Given the description of an element on the screen output the (x, y) to click on. 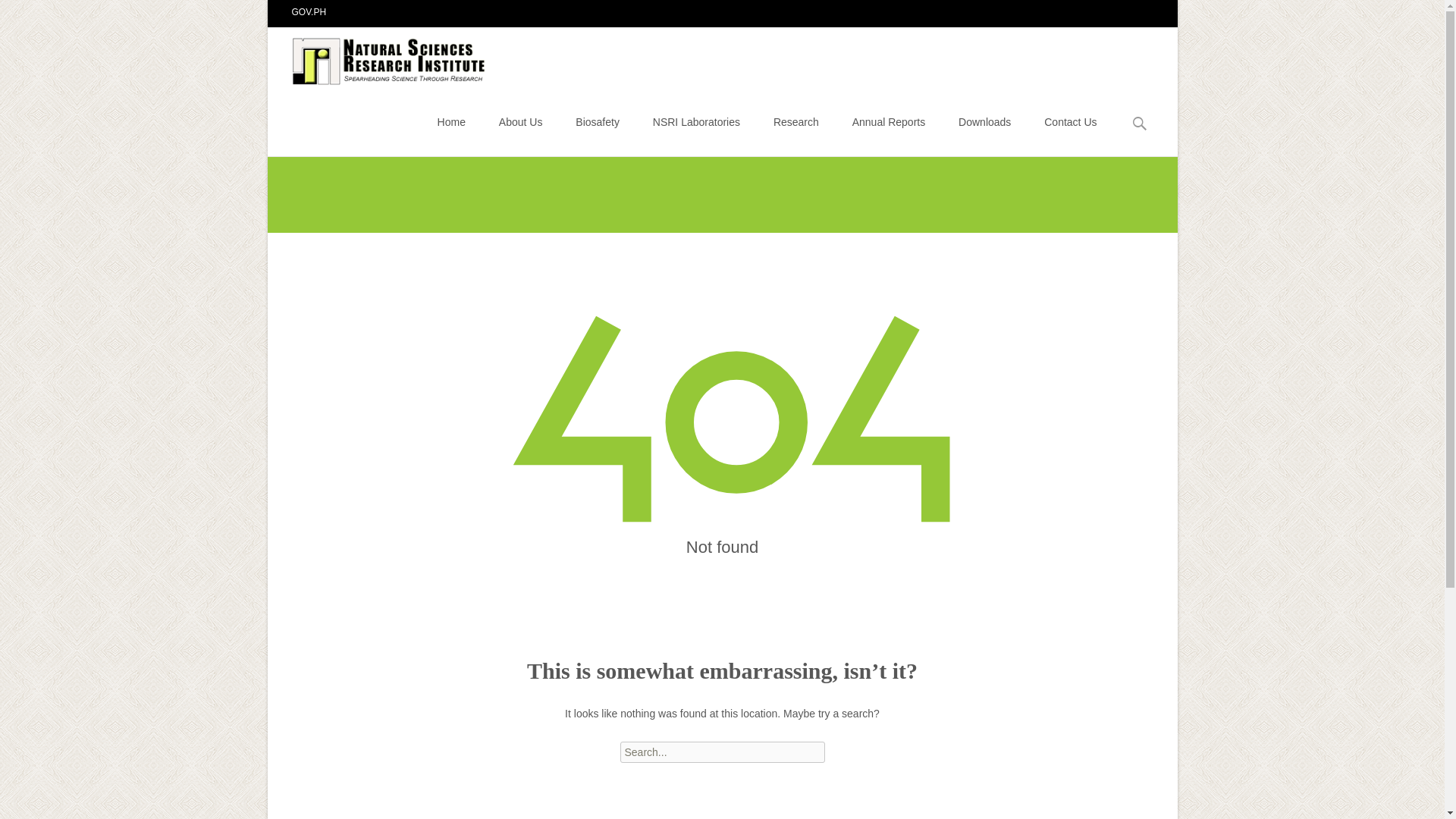
Search for: (1139, 123)
Annual Reports (888, 121)
Search (34, 14)
GOV.PH (308, 11)
NSRI Laboratories (695, 121)
Natural Sciences Research Institute (378, 57)
Search for: (722, 752)
Search (18, 14)
